Given the description of an element on the screen output the (x, y) to click on. 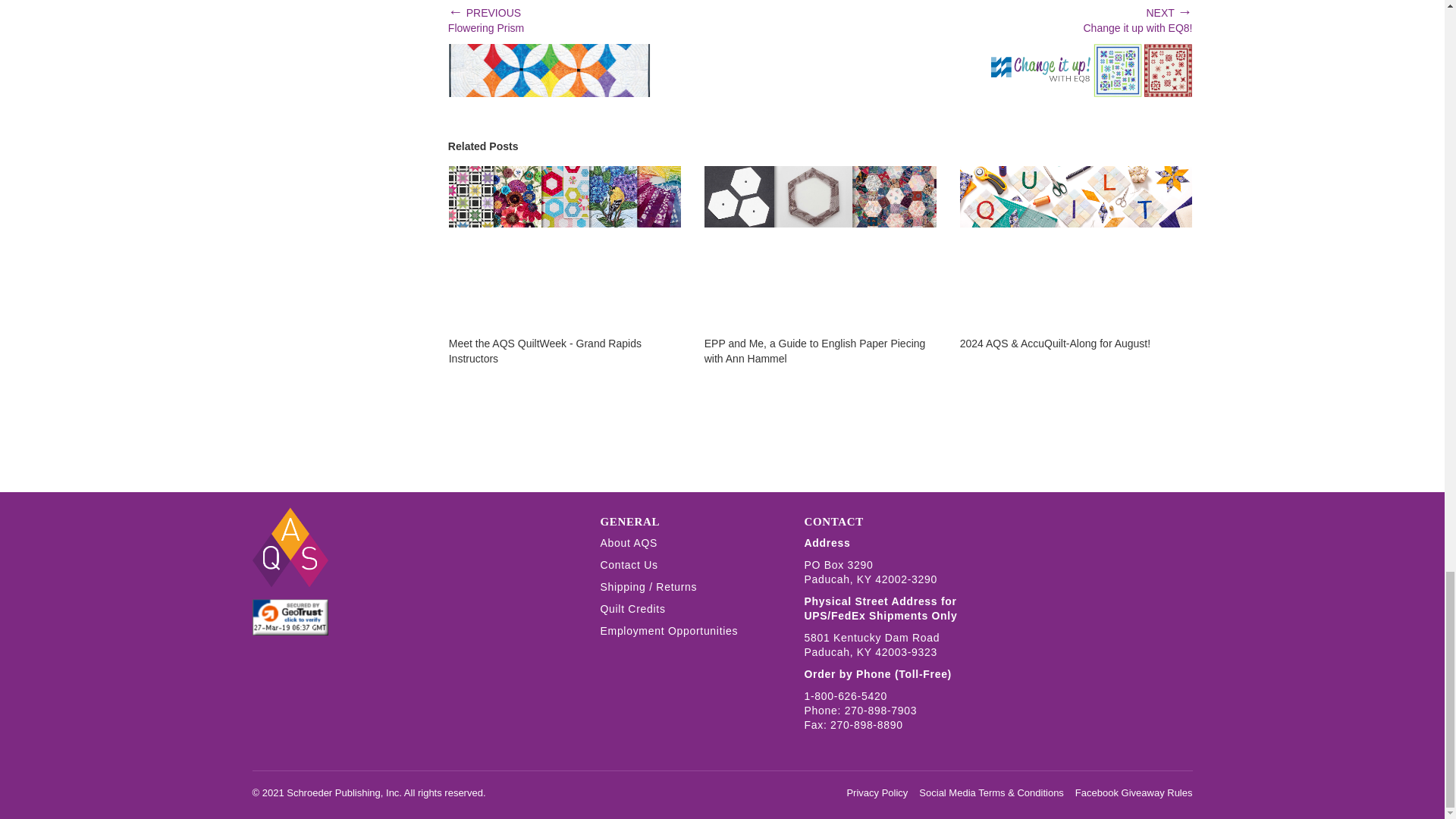
Flowering Prism (549, 70)
Change it up with EQ8! (1091, 70)
